Given the description of an element on the screen output the (x, y) to click on. 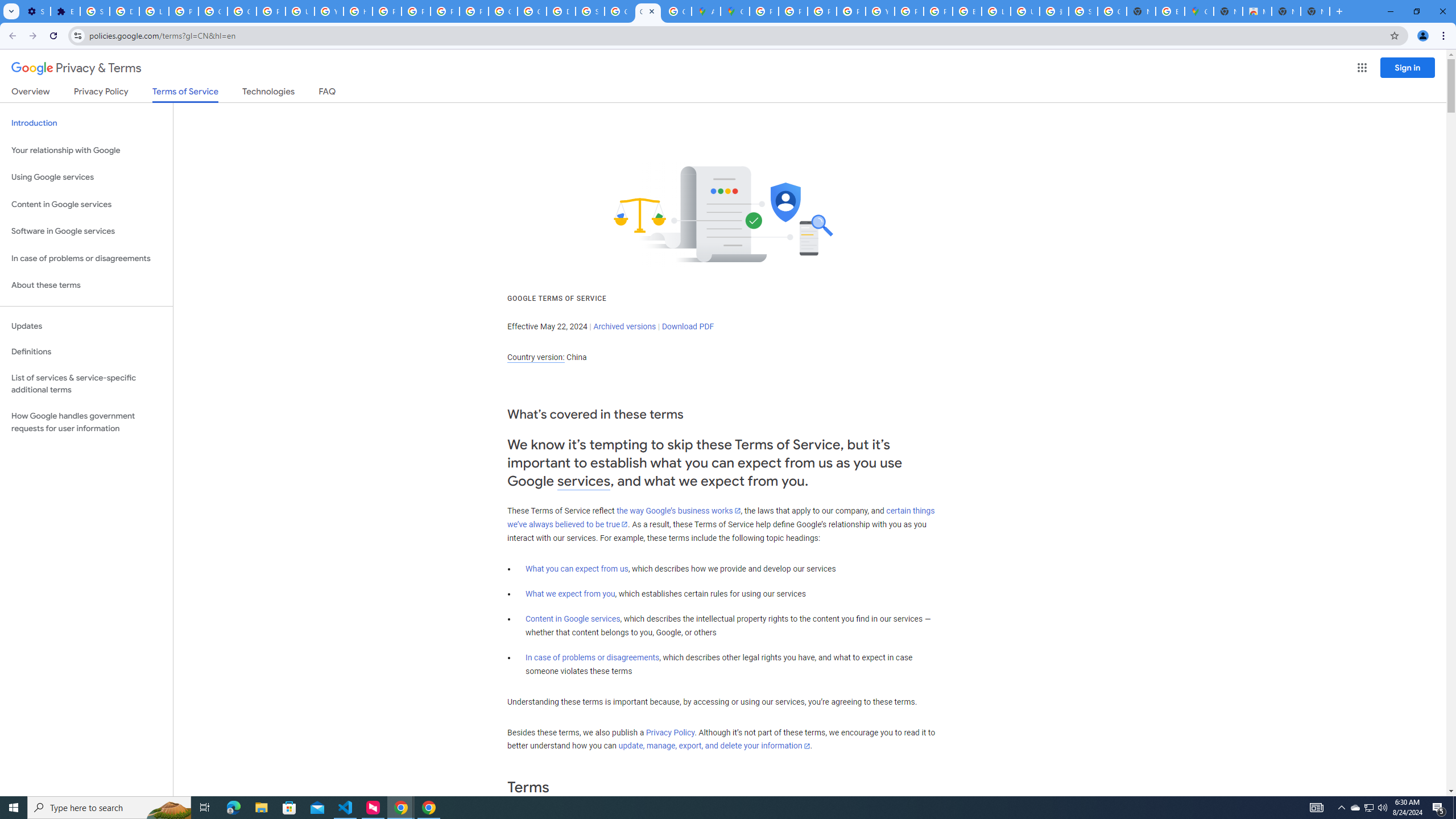
What we expect from you (570, 593)
About these terms (86, 284)
services (583, 480)
New Tab (1227, 11)
Explore new street-level details - Google Maps Help (1169, 11)
